Given the description of an element on the screen output the (x, y) to click on. 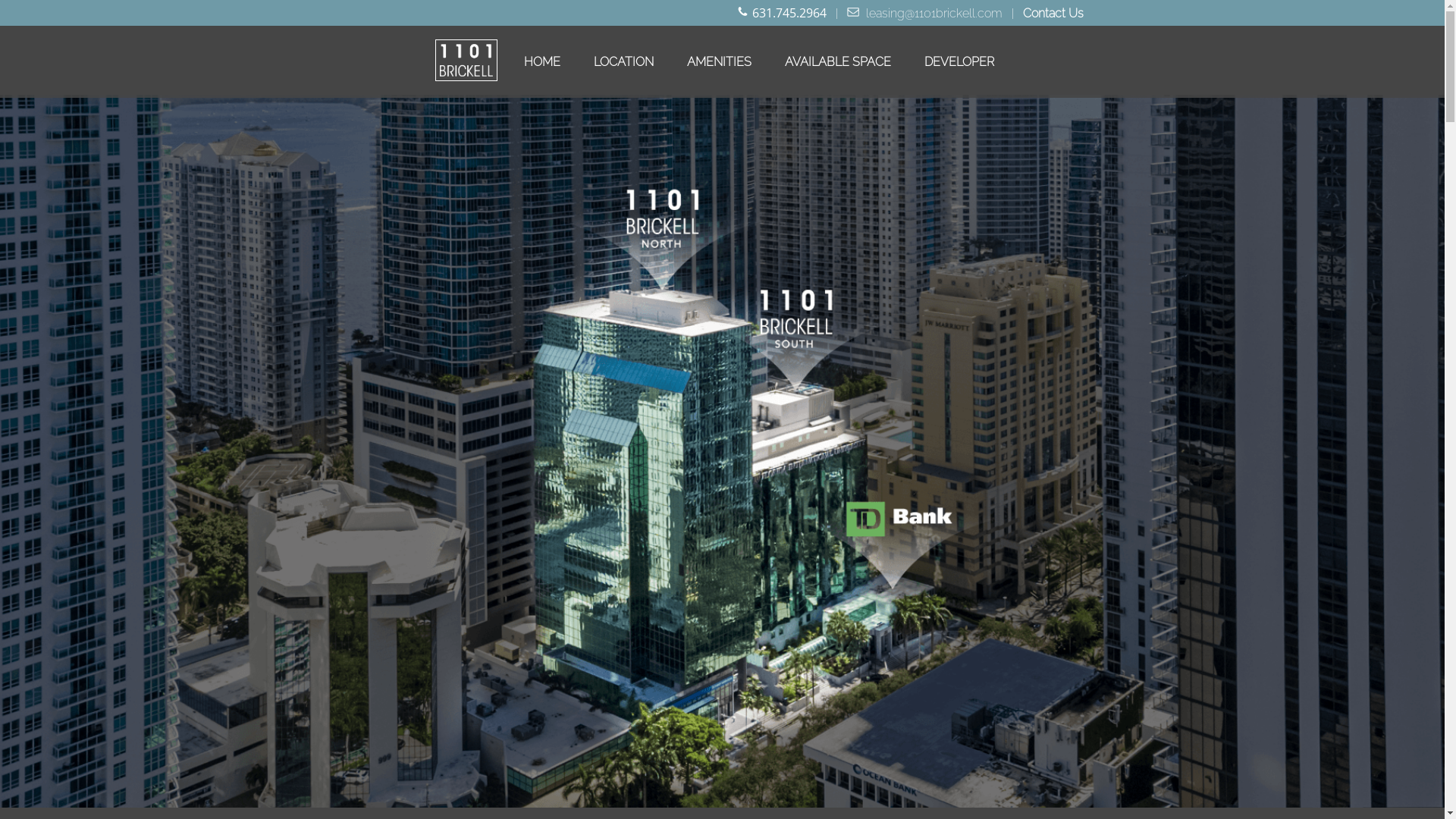
AMENITIES Element type: text (719, 61)
Contact Us Element type: text (1052, 13)
LOCATION Element type: text (623, 61)
631.745.2964 Element type: text (789, 12)
AVAILABLE SPACE Element type: text (837, 61)
leasing@1101brickell.com Element type: text (933, 13)
DEVELOPER Element type: text (959, 61)
HOME Element type: text (542, 61)
